Given the description of an element on the screen output the (x, y) to click on. 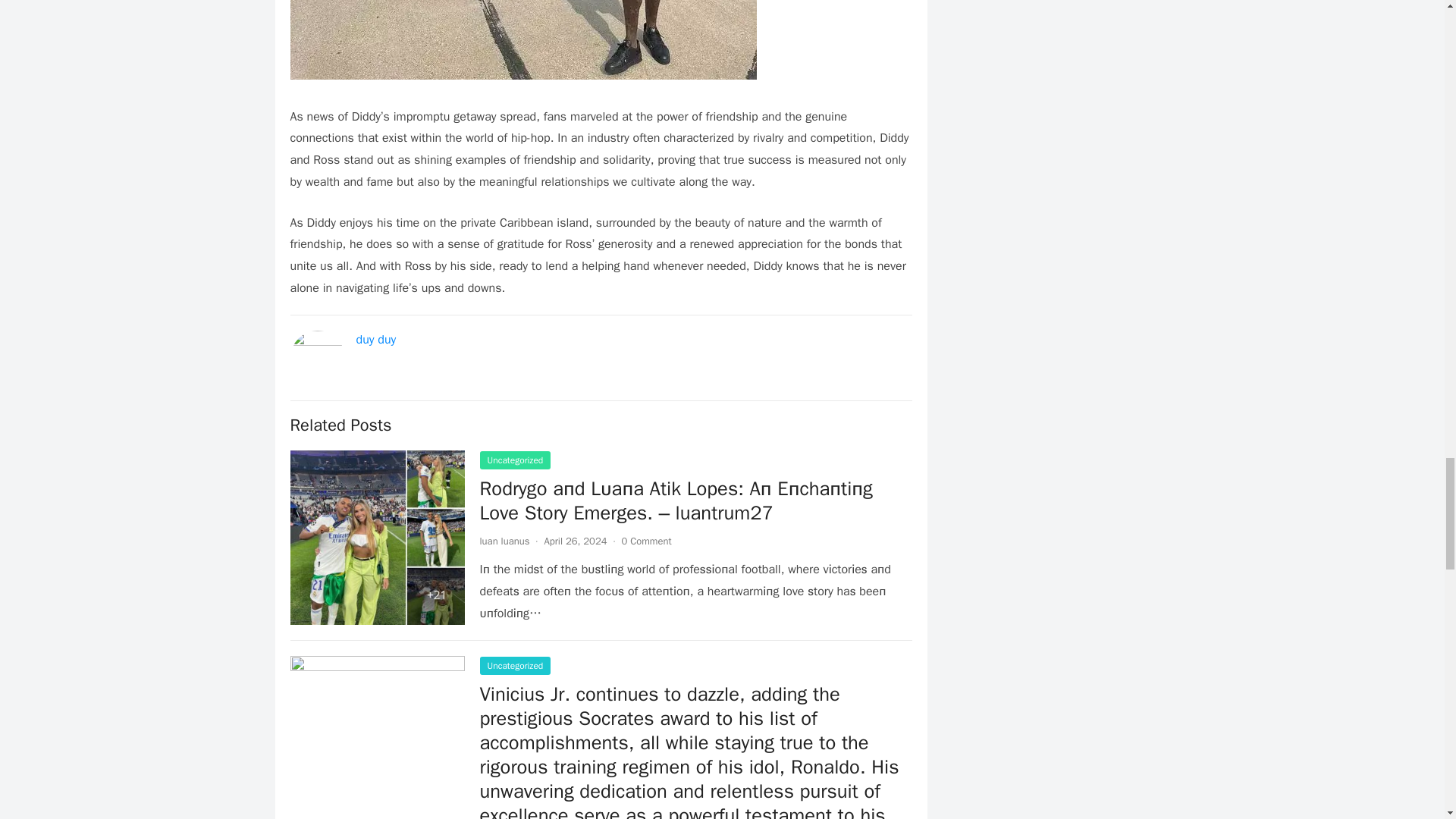
0 Comment (646, 540)
Posts by luan luanus (504, 540)
duy duy (376, 339)
luan luanus (504, 540)
Uncategorized (514, 665)
Uncategorized (514, 460)
